Given the description of an element on the screen output the (x, y) to click on. 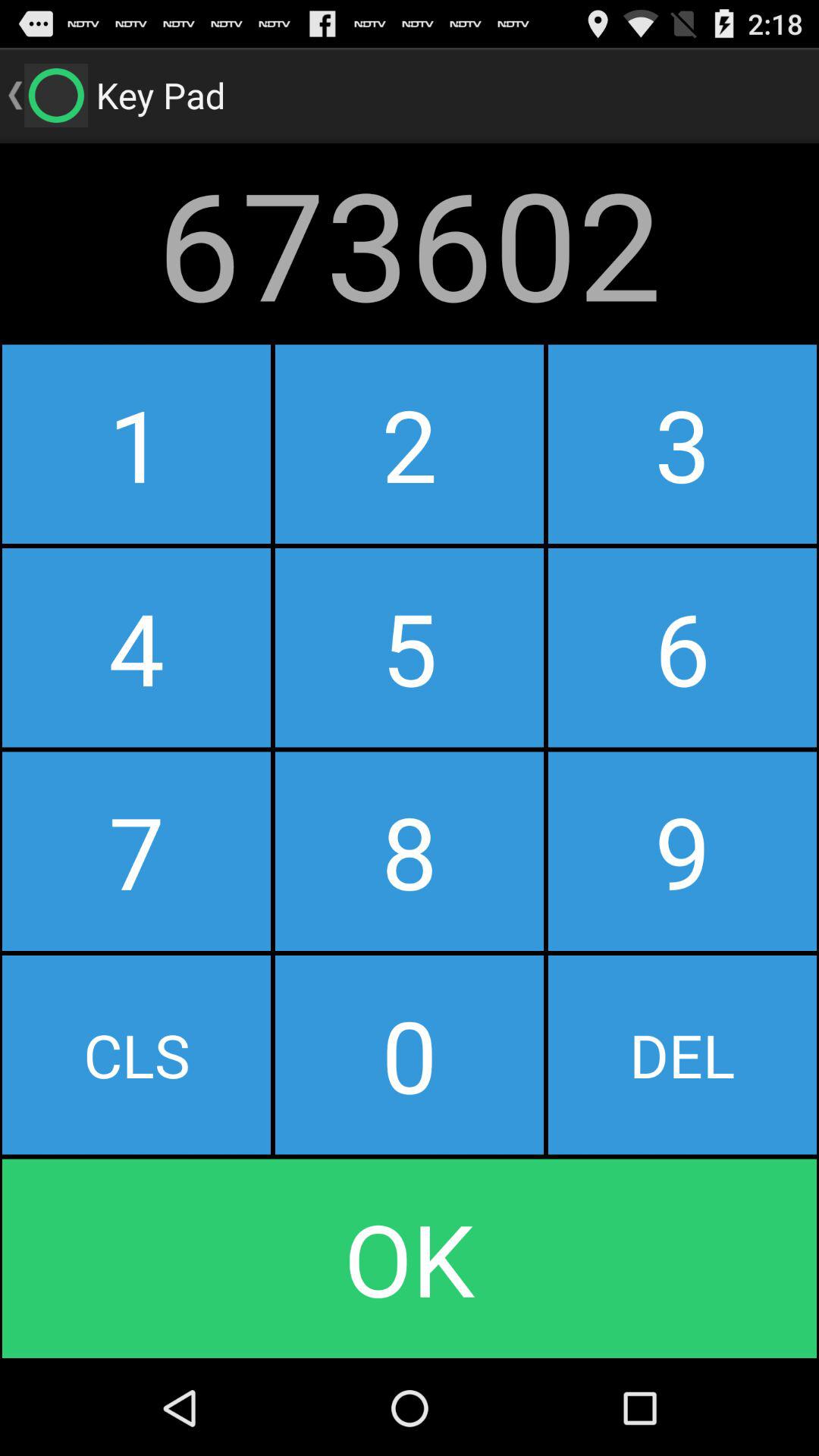
open icon below 2 (682, 647)
